Given the description of an element on the screen output the (x, y) to click on. 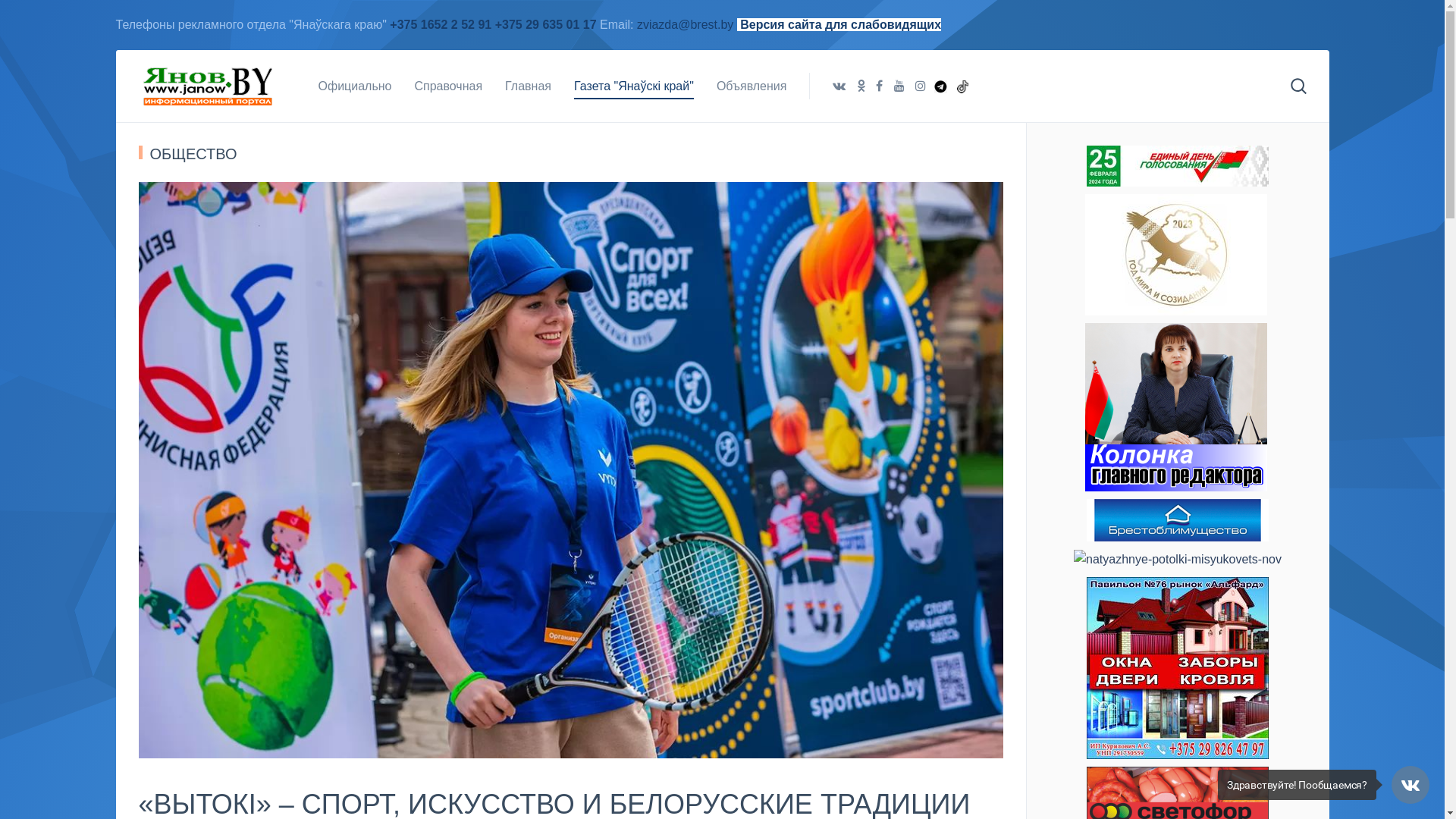
+375 29 635 01 17 Element type: text (545, 24)
+375 1652 2 52 91 Element type: text (440, 24)
zviazda@brest.by Element type: text (687, 24)
